Given the description of an element on the screen output the (x, y) to click on. 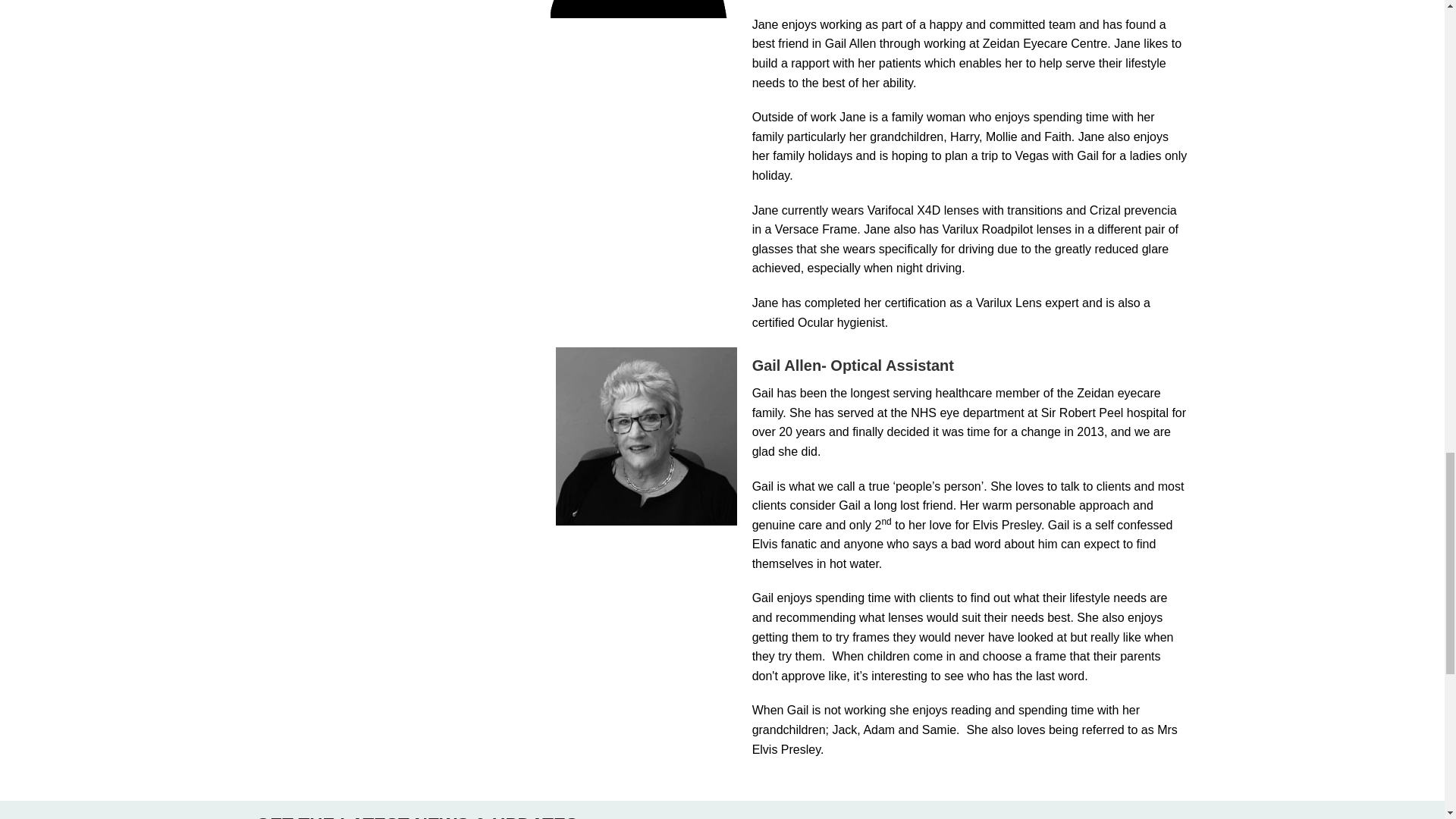
female-1 (638, 9)
